Given the description of an element on the screen output the (x, y) to click on. 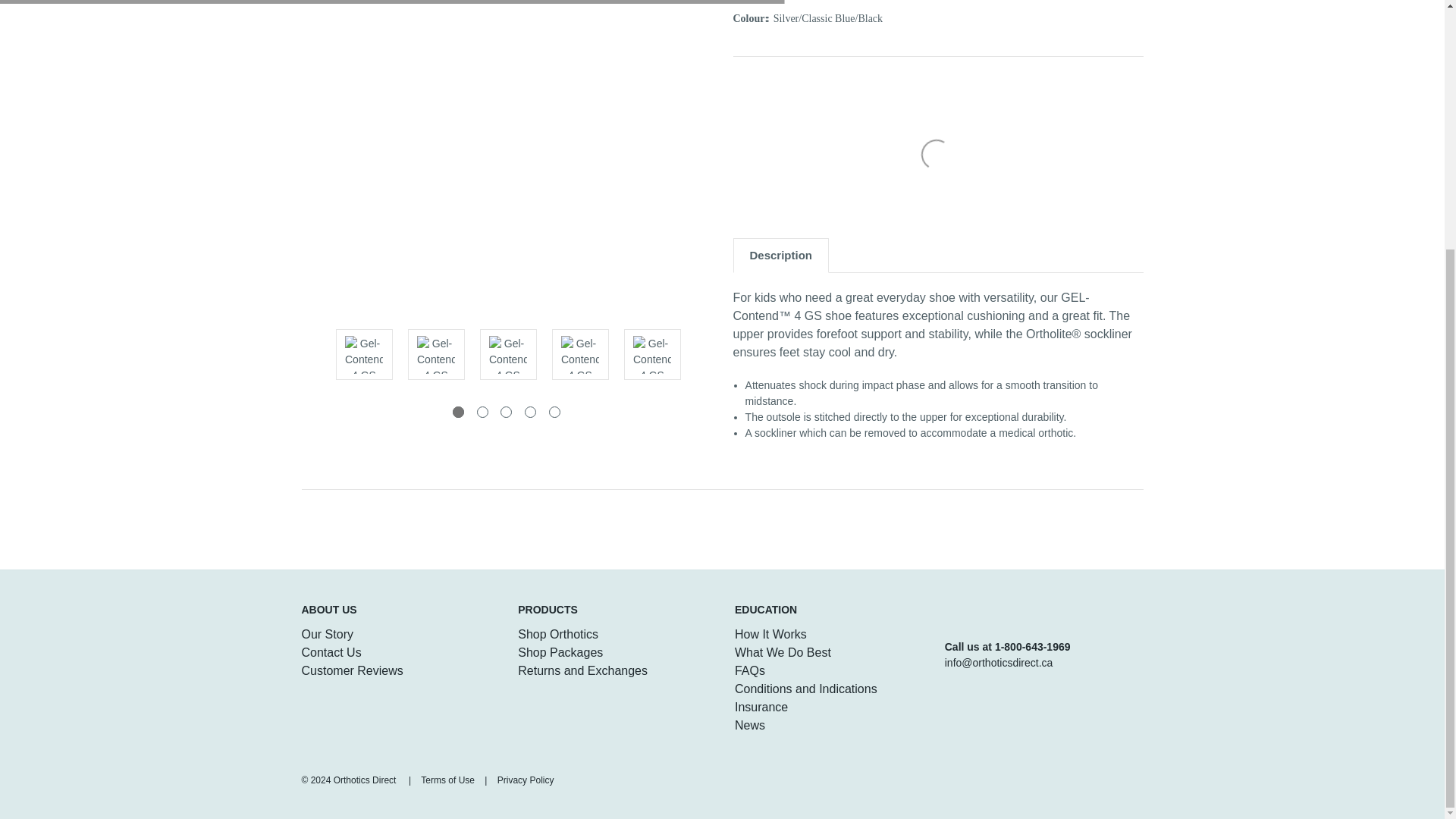
Gel-Contend 4 GS (508, 354)
Gel-Contend 4 GS (435, 354)
Select Orthotic (961, 94)
Select Casting Method (961, 135)
3 (506, 411)
1 (458, 411)
Add To Cart (961, 176)
Description (780, 255)
5 (554, 411)
Gel-Contend 4 GS (506, 160)
2 (481, 411)
Our Story (327, 634)
Gel-Contend 4 GS (652, 354)
Gel-Contend 4 GS (579, 354)
4 (529, 411)
